Given the description of an element on the screen output the (x, y) to click on. 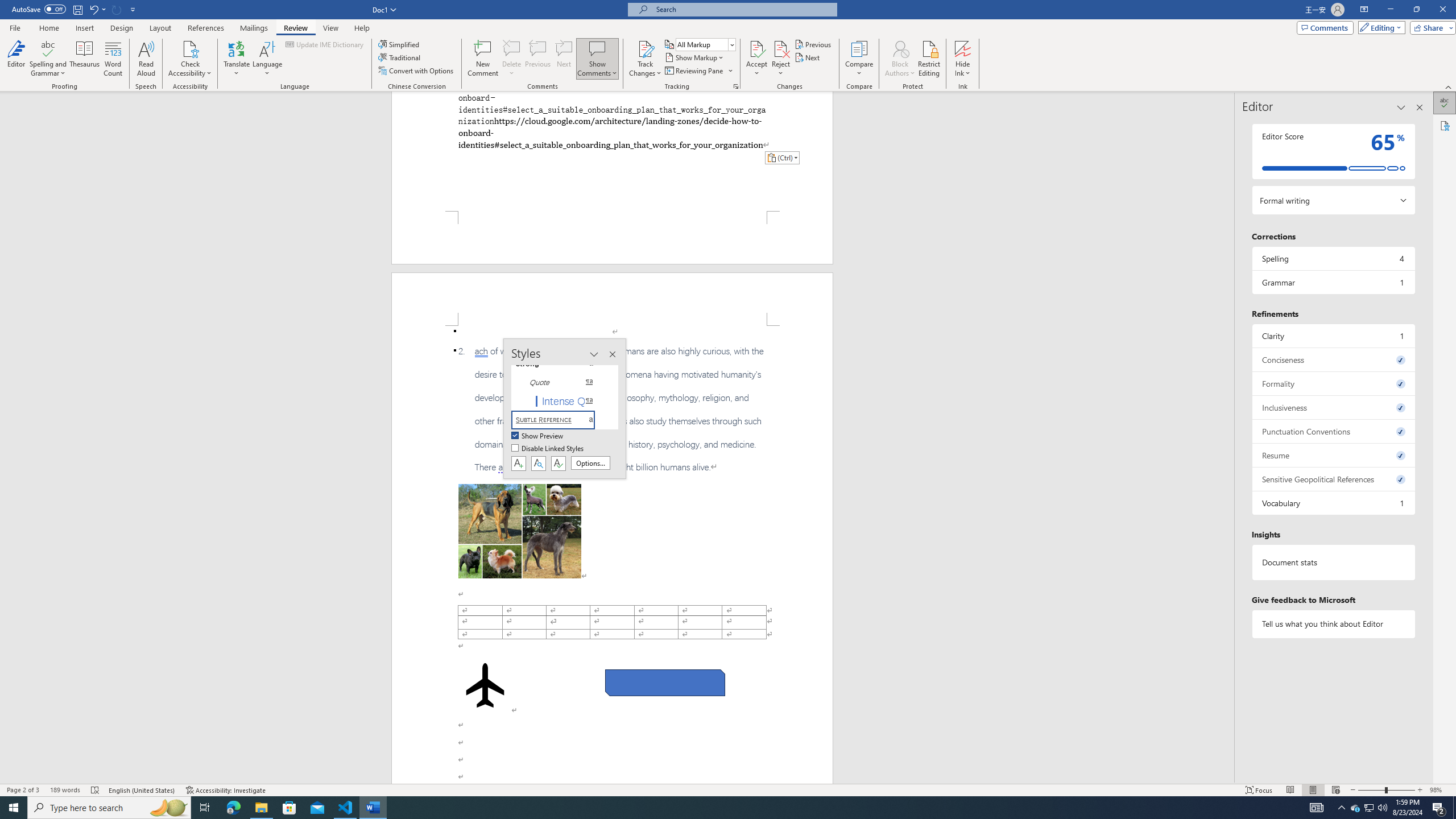
Spelling and Grammar (48, 58)
Delete (511, 48)
Reviewing Pane (698, 69)
Read Aloud (145, 58)
Resume, 0 issues. Press space or enter to review items. (1333, 454)
Strong (559, 363)
Convert with Options... (417, 69)
New Comment (482, 58)
